Given the description of an element on the screen output the (x, y) to click on. 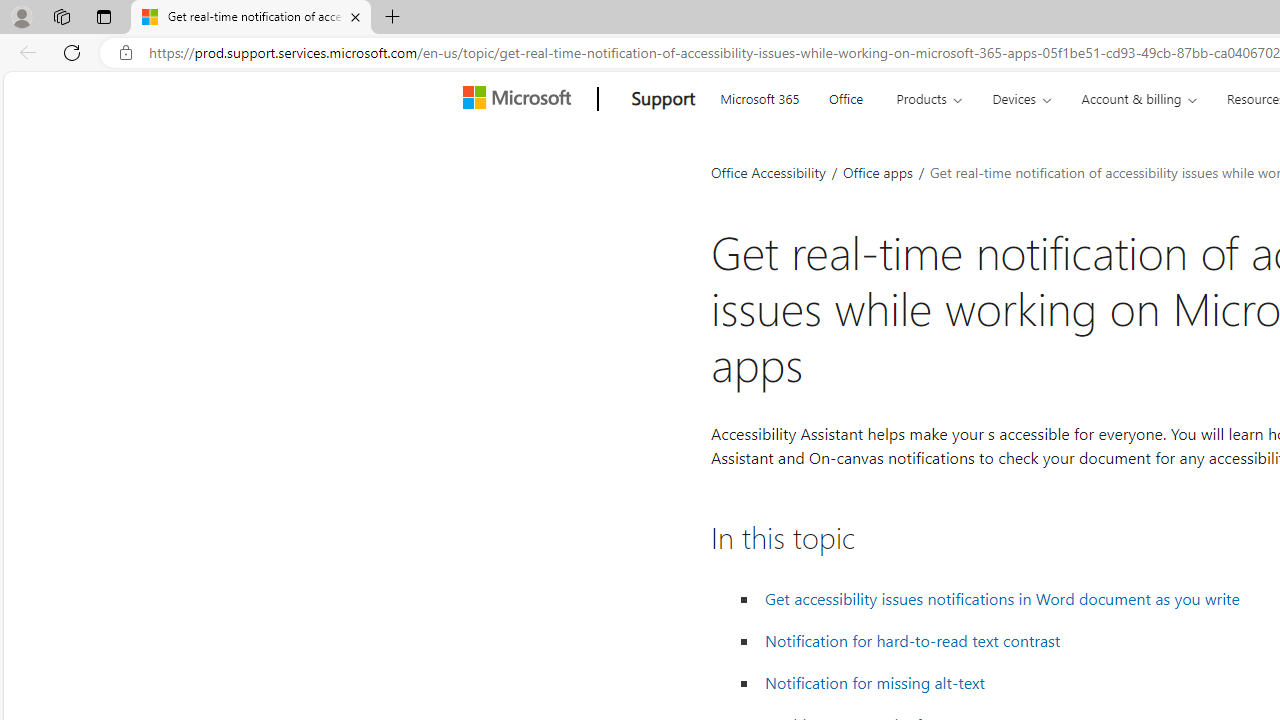
Microsoft 365 (759, 96)
Workspaces (61, 16)
 Notification for missing alt-text (875, 682)
Office (845, 96)
Microsoft (520, 99)
Close tab (354, 16)
New Tab (392, 17)
Tab actions menu (104, 16)
